Given the description of an element on the screen output the (x, y) to click on. 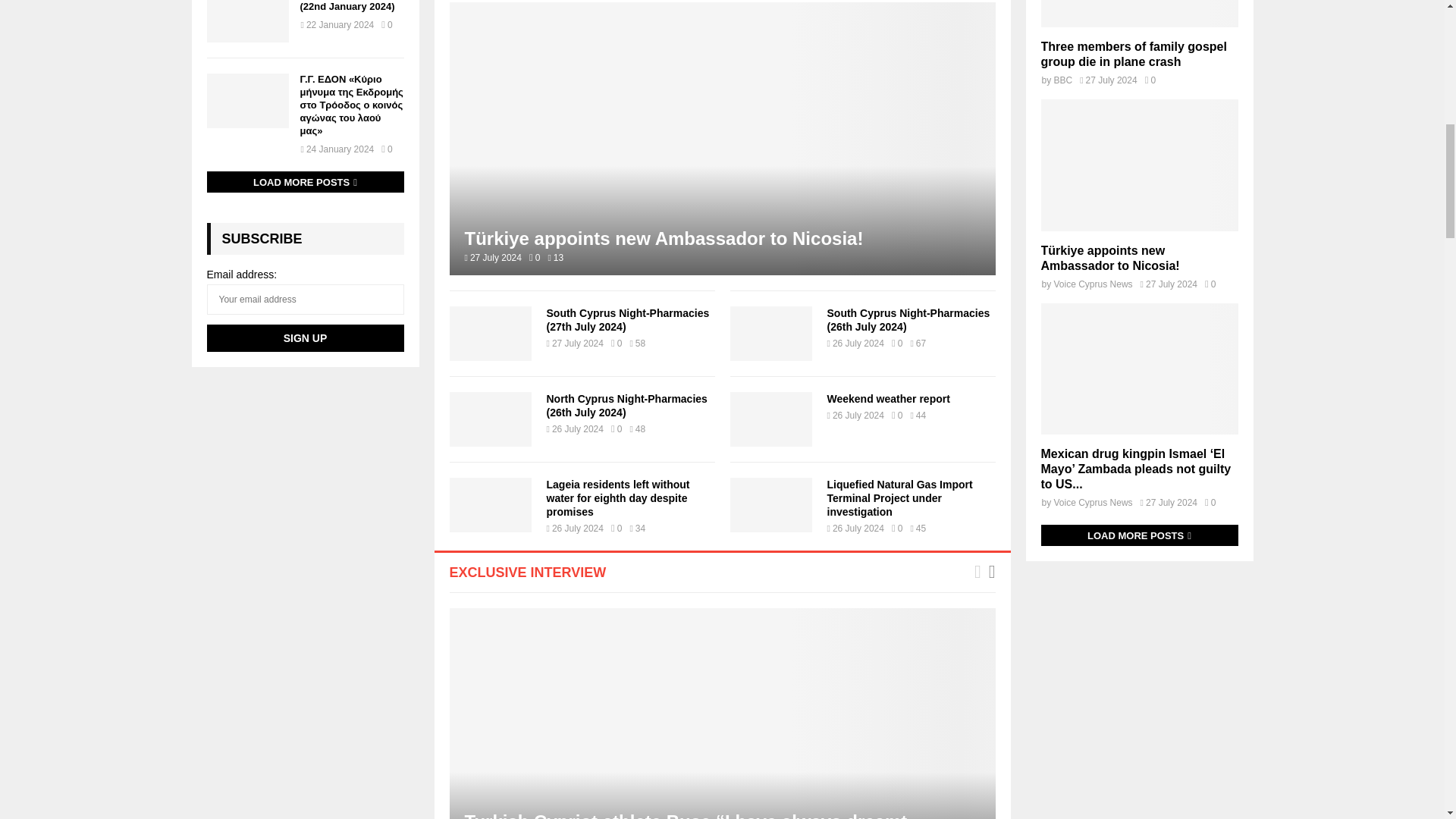
Sign up (304, 338)
